Given the description of an element on the screen output the (x, y) to click on. 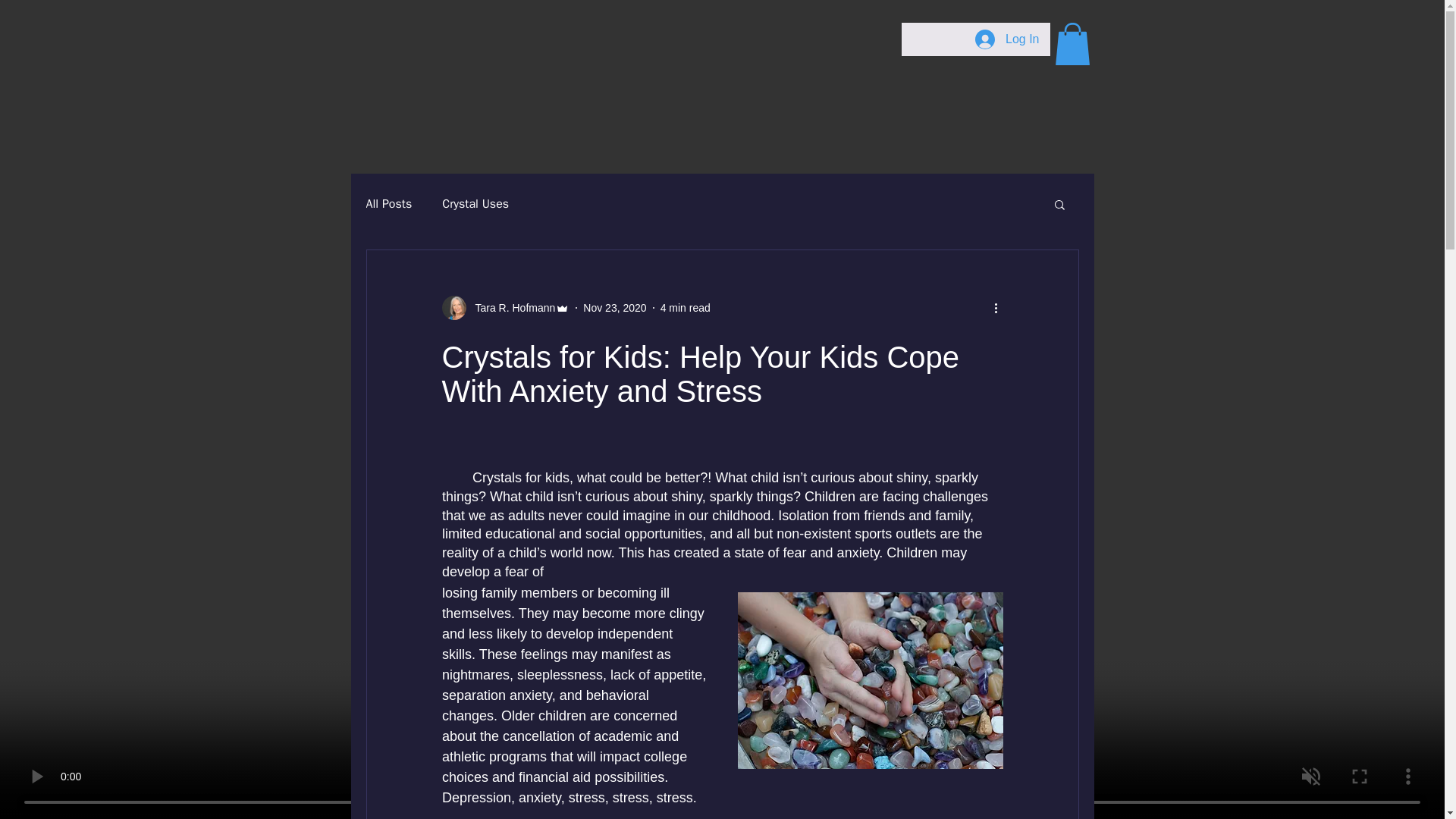
All Posts (388, 203)
Tara R. Hofmann (505, 307)
Tara R. Hofmann (509, 308)
Nov 23, 2020 (614, 307)
4 min read (685, 307)
Crystal Uses (475, 203)
Log In (1006, 39)
